Given the description of an element on the screen output the (x, y) to click on. 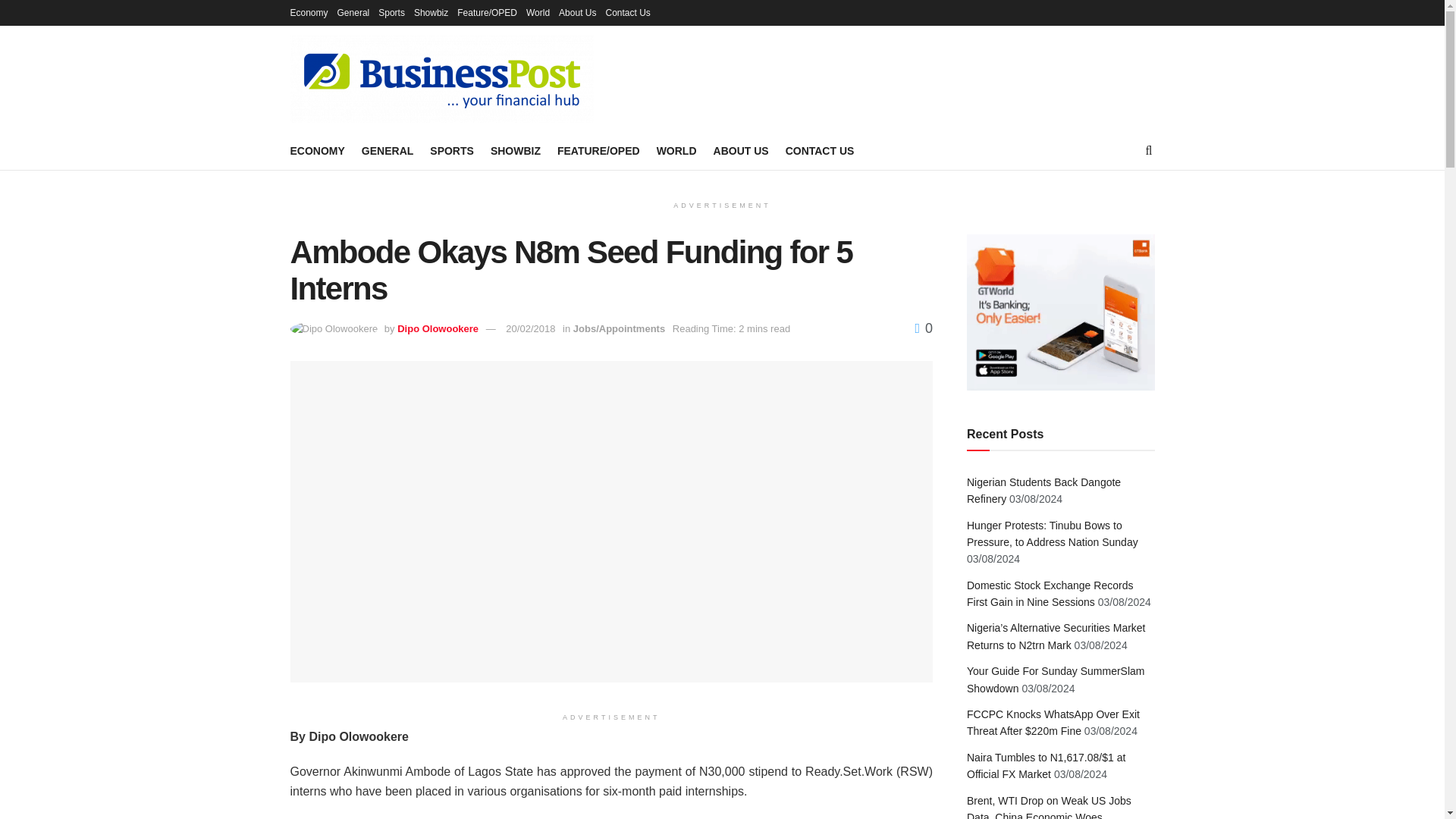
SHOWBIZ (515, 150)
Dipo Olowookere (438, 328)
About Us (577, 12)
ABOUT US (740, 150)
Sports (391, 12)
General (353, 12)
ECONOMY (316, 150)
Contact Us (627, 12)
Economy (308, 12)
GENERAL (387, 150)
SPORTS (451, 150)
0 (923, 328)
Showbiz (430, 12)
World (537, 12)
CONTACT US (820, 150)
